Given the description of an element on the screen output the (x, y) to click on. 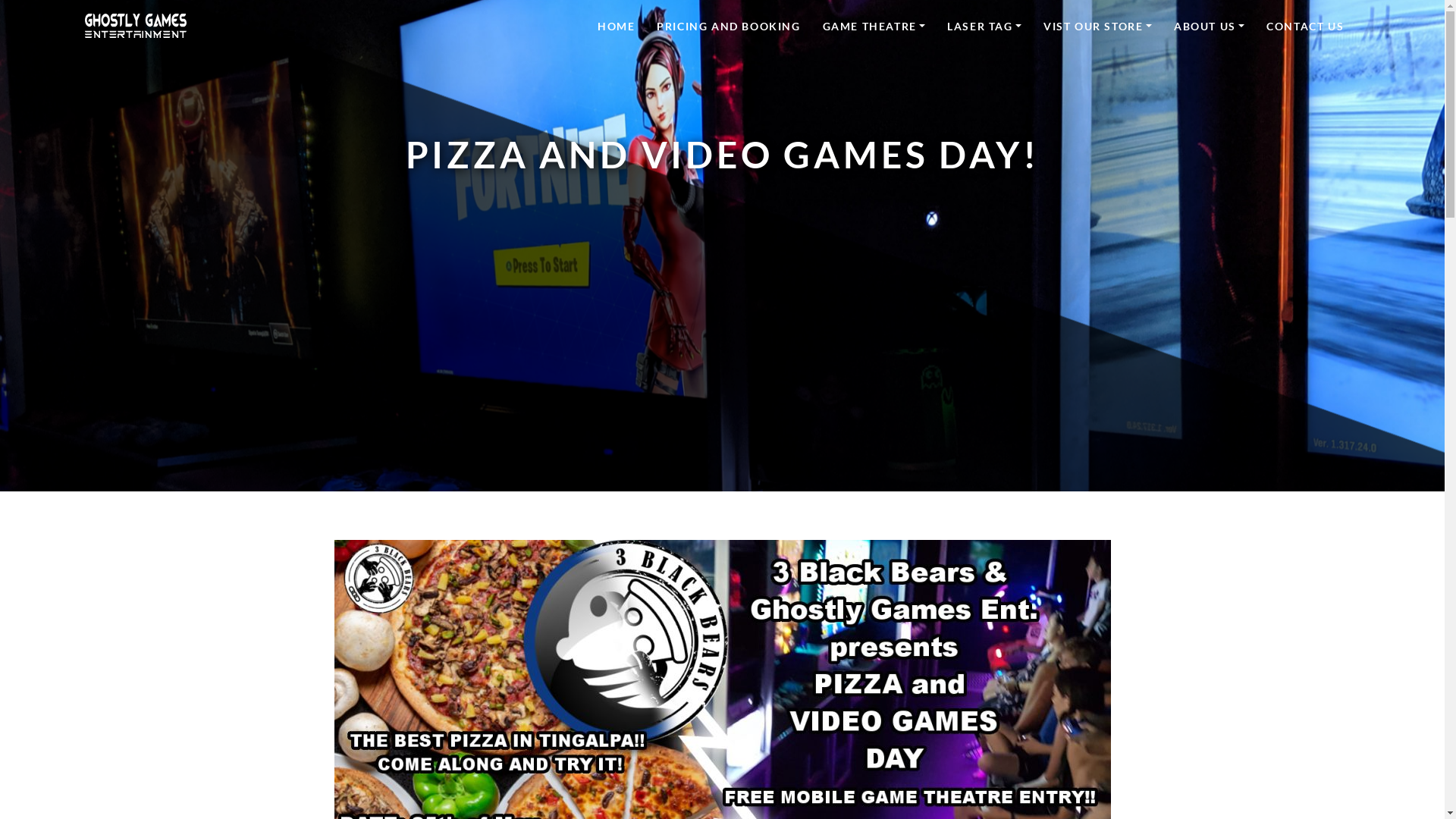
CONTACT US Element type: text (1304, 24)
LASER TAG Element type: text (984, 24)
GAME THEATRE Element type: text (873, 24)
HOME Element type: text (615, 24)
PRICING AND BOOKING Element type: text (728, 24)
VIST OUR STORE Element type: text (1097, 24)
ABOUT US Element type: text (1208, 24)
